Given the description of an element on the screen output the (x, y) to click on. 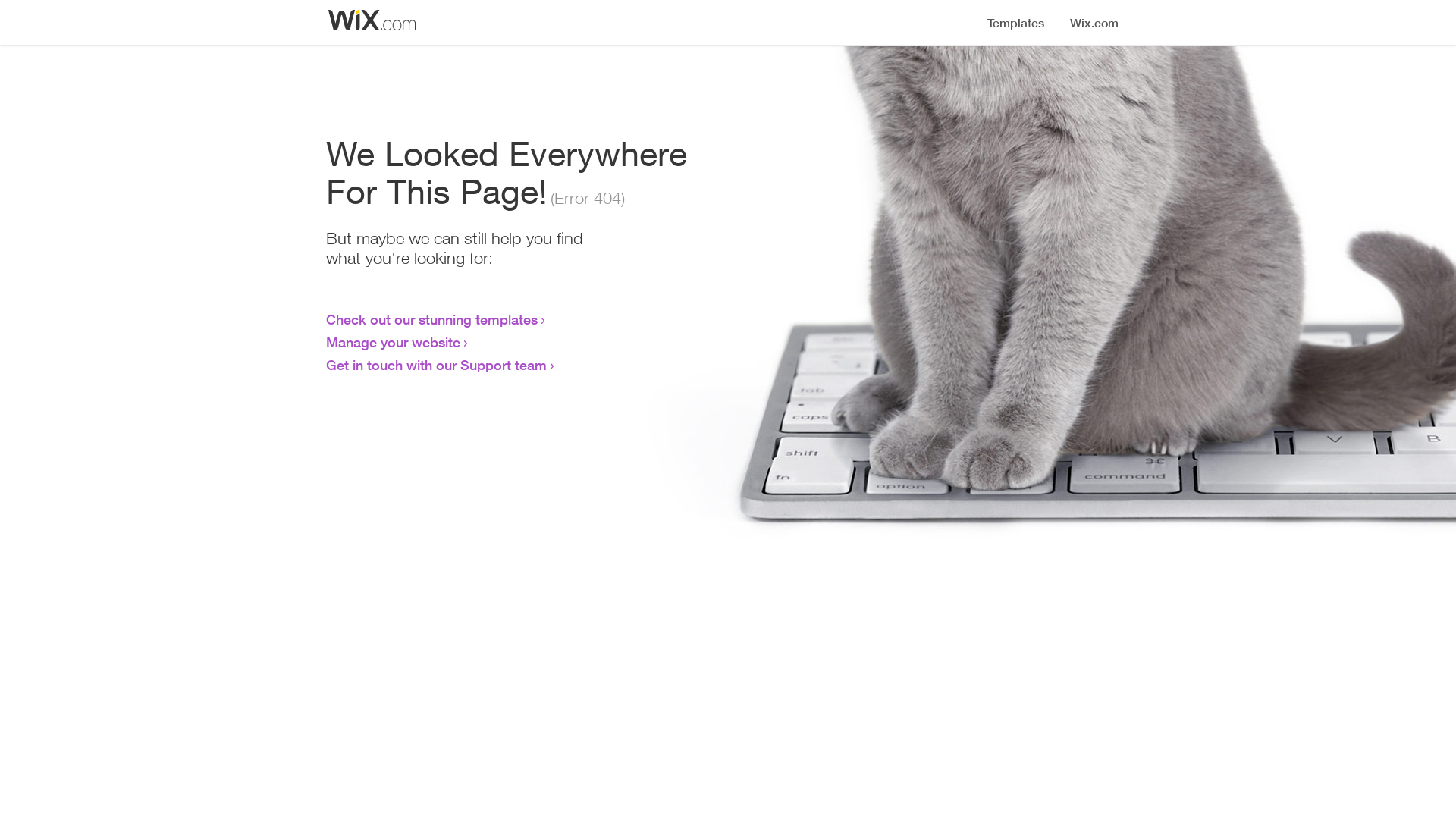
Get in touch with our Support team Element type: text (436, 364)
Check out our stunning templates Element type: text (431, 318)
Manage your website Element type: text (393, 341)
